Given the description of an element on the screen output the (x, y) to click on. 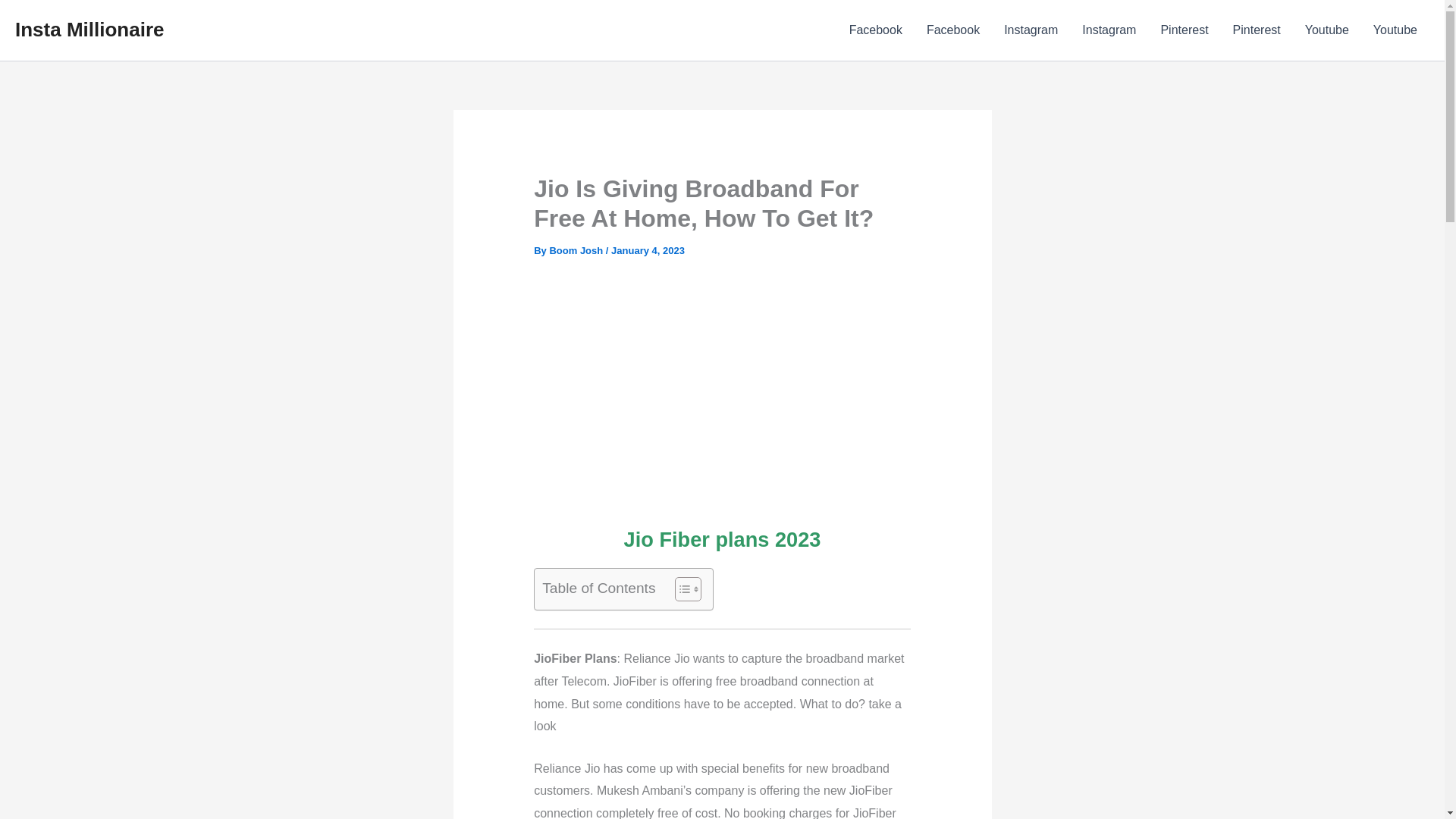
Boom Josh (576, 250)
Pinterest (1184, 30)
Facebook (952, 30)
Pinterest (1256, 30)
View all posts by Boom Josh (576, 250)
Youtube (1326, 30)
Facebook (875, 30)
Instagram (1109, 30)
Instagram (1030, 30)
Insta Millionaire (89, 29)
